Given the description of an element on the screen output the (x, y) to click on. 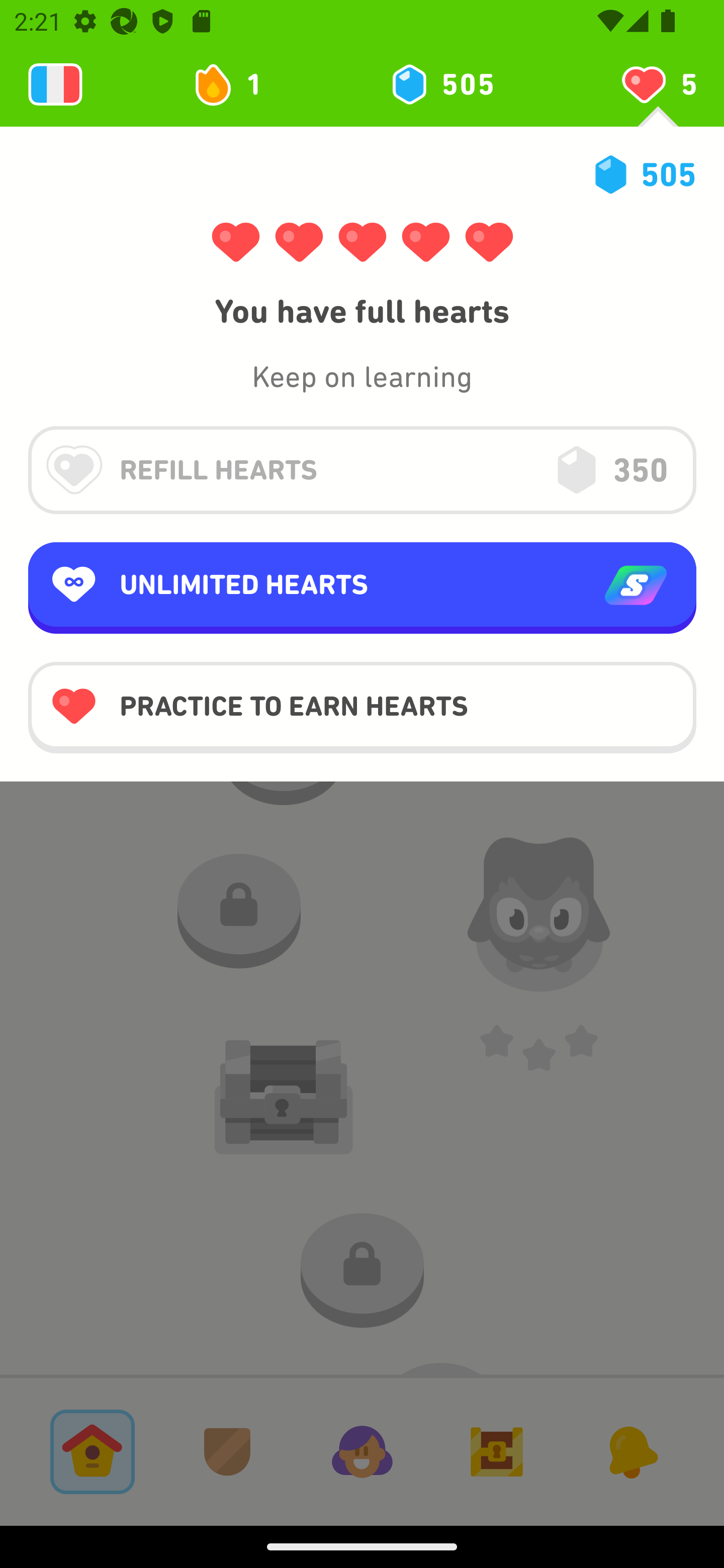
Learning 2131888976 (55, 84)
1 day streak 1 (236, 84)
505 (441, 84)
You have 5 hearts left 5 (657, 84)
UNLIMITED HEARTS (362, 587)
PRACTICE TO EARN HEARTS (362, 706)
